Given the description of an element on the screen output the (x, y) to click on. 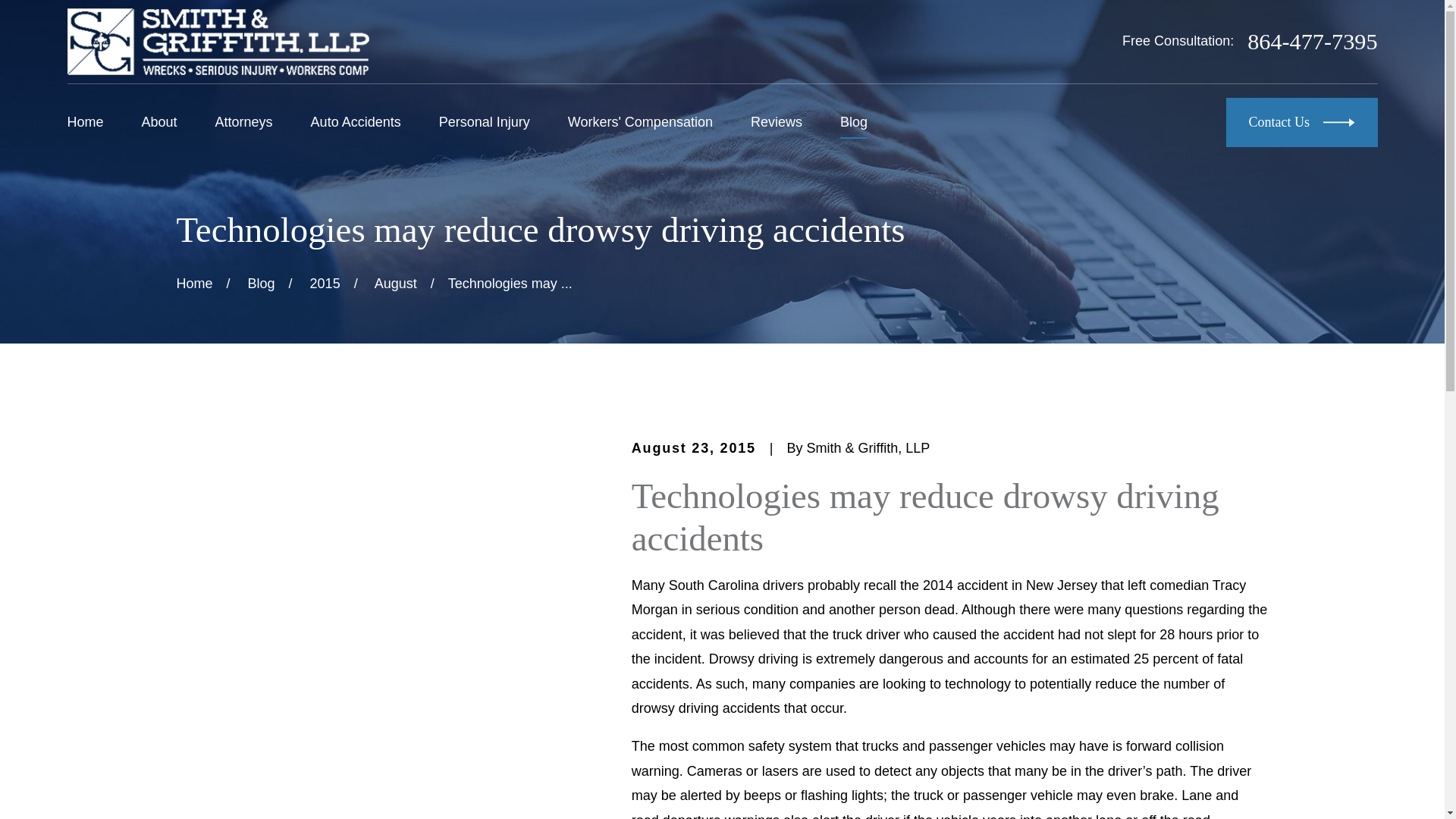
864-477-7395 (1312, 41)
Workers' Compensation (640, 122)
Go Home (194, 283)
Home (217, 41)
Personal Injury (484, 122)
Auto Accidents (356, 122)
Attorneys (244, 122)
